Given the description of an element on the screen output the (x, y) to click on. 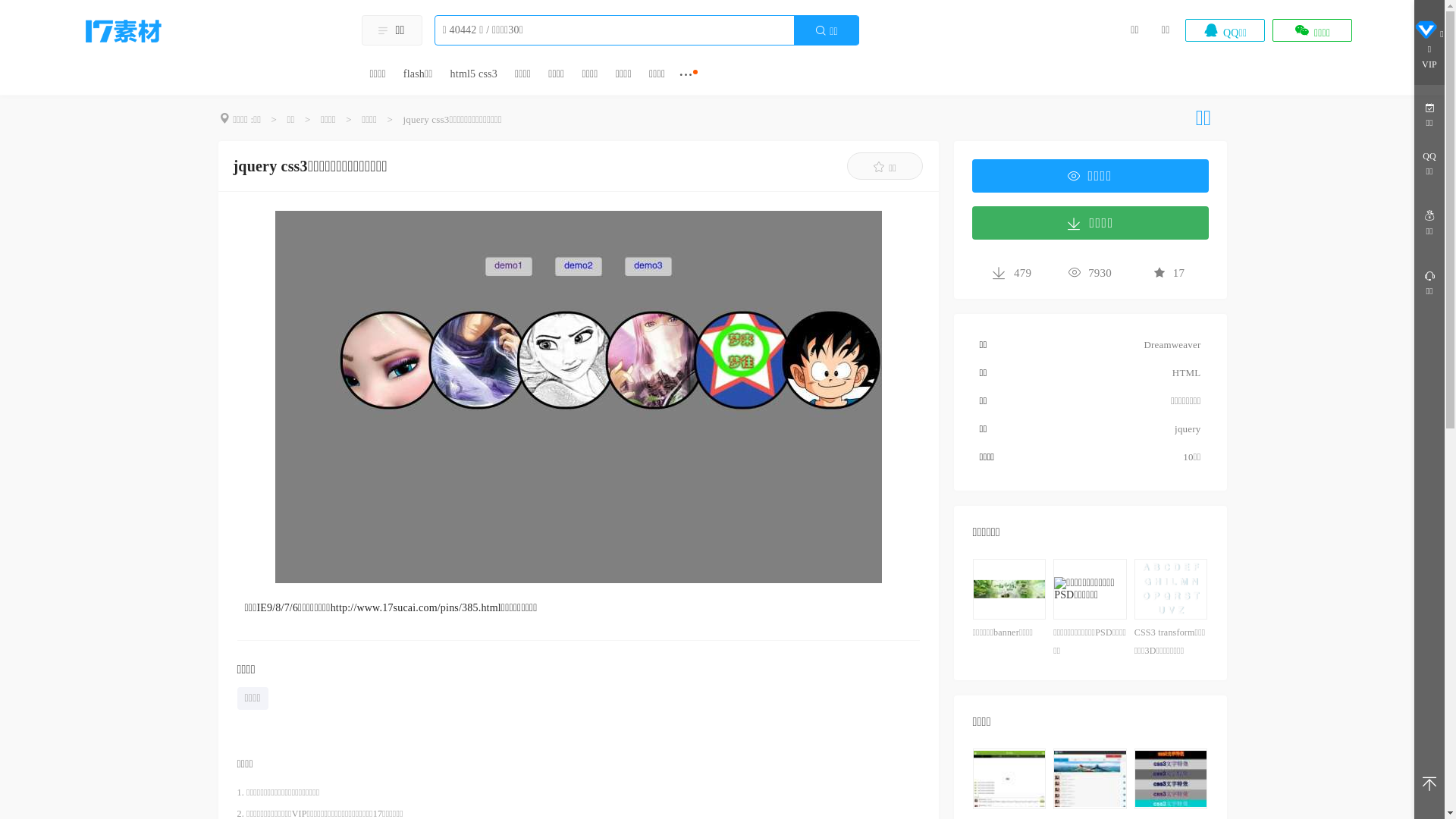
jquery Element type: text (1187, 428)
html5 css3 Element type: text (473, 80)
